Given the description of an element on the screen output the (x, y) to click on. 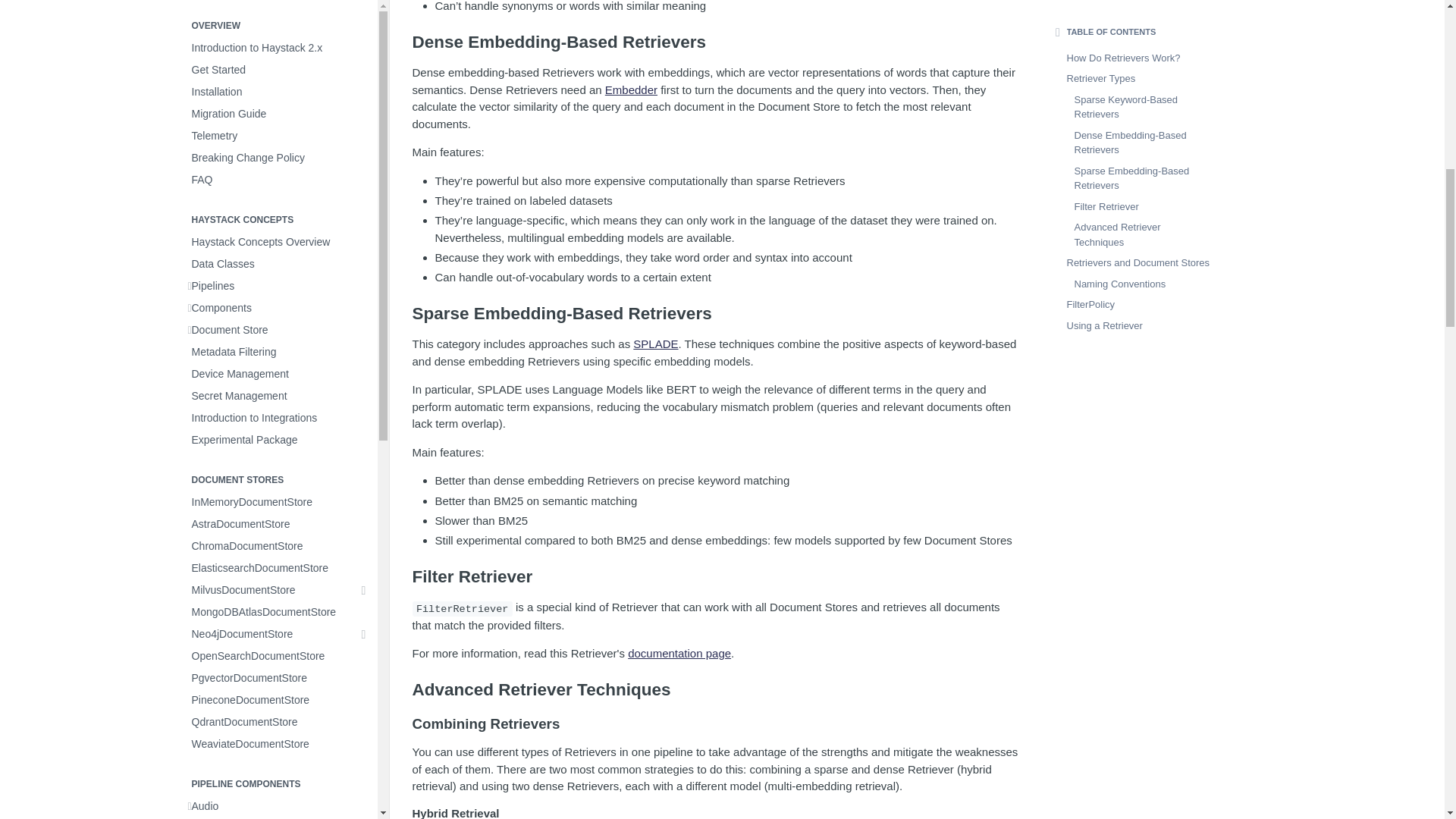
Advanced Retriever Techniques (715, 690)
Dense Embedding-Based Retrievers (715, 42)
Combining Retrievers (715, 723)
Hybrid Retrieval (715, 812)
Filter Retriever (715, 577)
Sparse Embedding-Based Retrievers (715, 313)
